Given the description of an element on the screen output the (x, y) to click on. 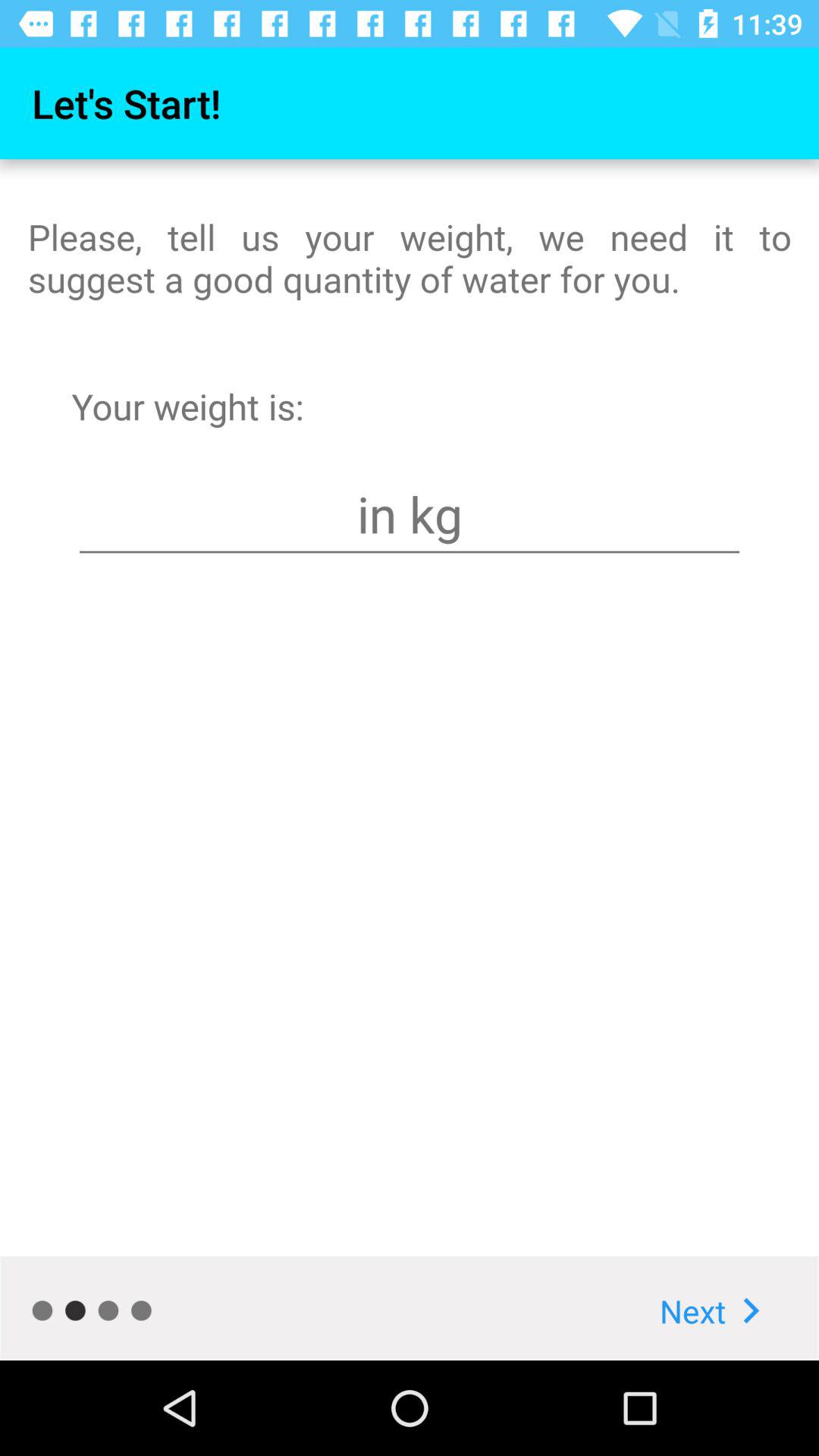
enter weight (409, 514)
